Given the description of an element on the screen output the (x, y) to click on. 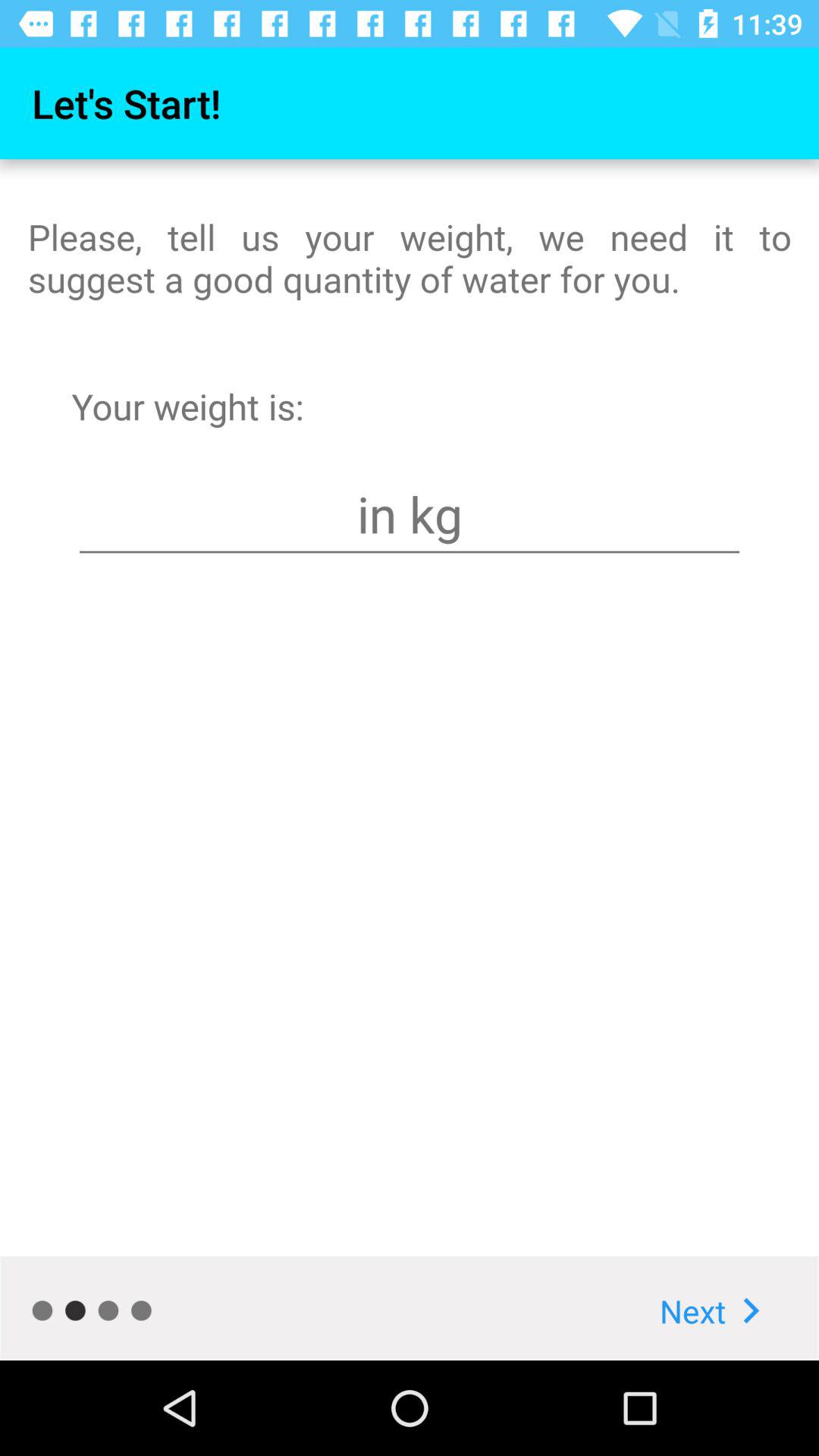
enter weight (409, 514)
